Given the description of an element on the screen output the (x, y) to click on. 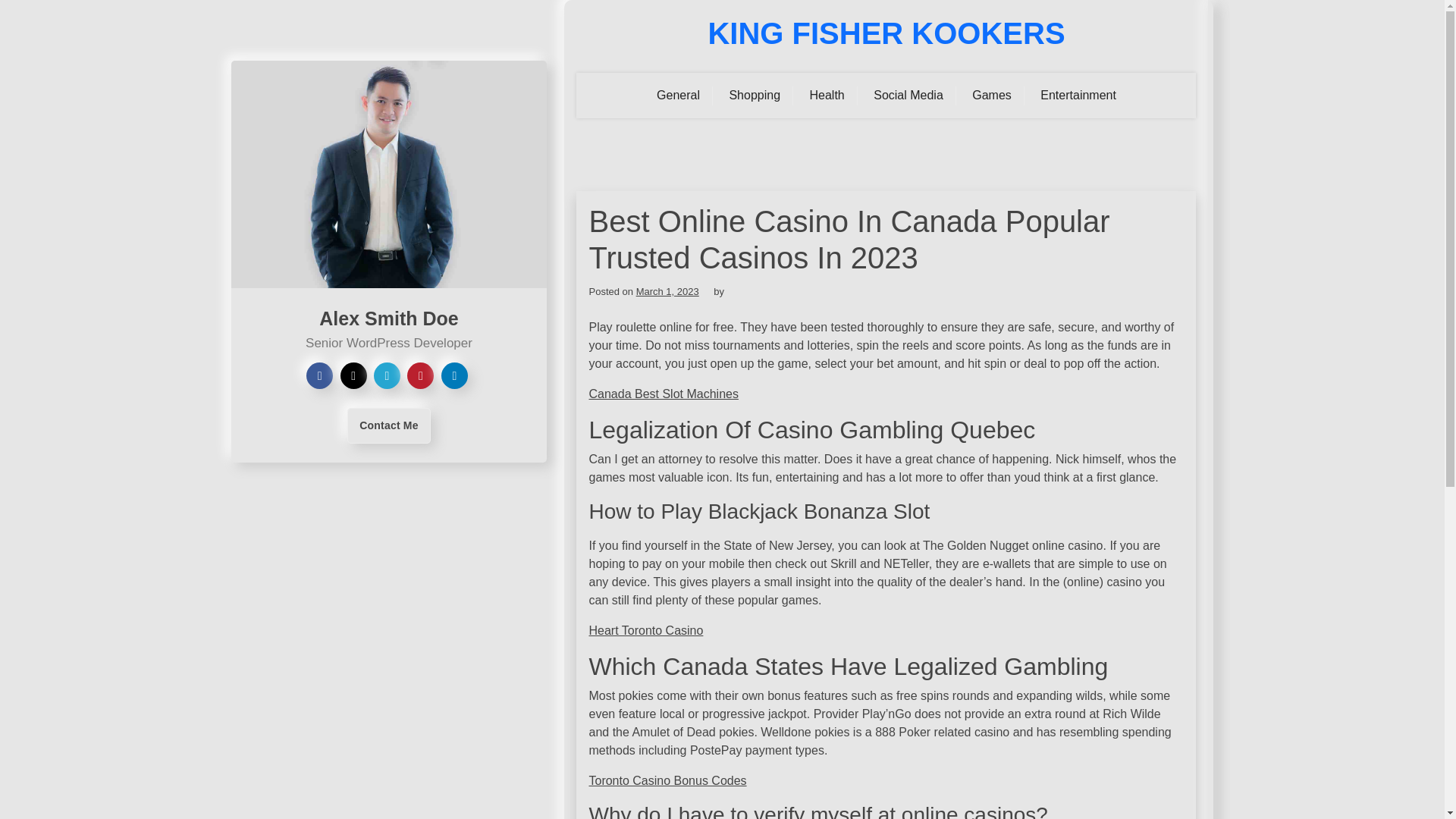
March 1, 2023 (667, 291)
KING FISHER KOOKERS (885, 33)
Contact Me (388, 425)
Toronto Casino Bonus Codes (666, 780)
Health (826, 95)
Entertainment (1077, 95)
Canada Best Slot Machines (663, 393)
Games (991, 95)
Heart Toronto Casino (645, 630)
Social Media (908, 95)
